Given the description of an element on the screen output the (x, y) to click on. 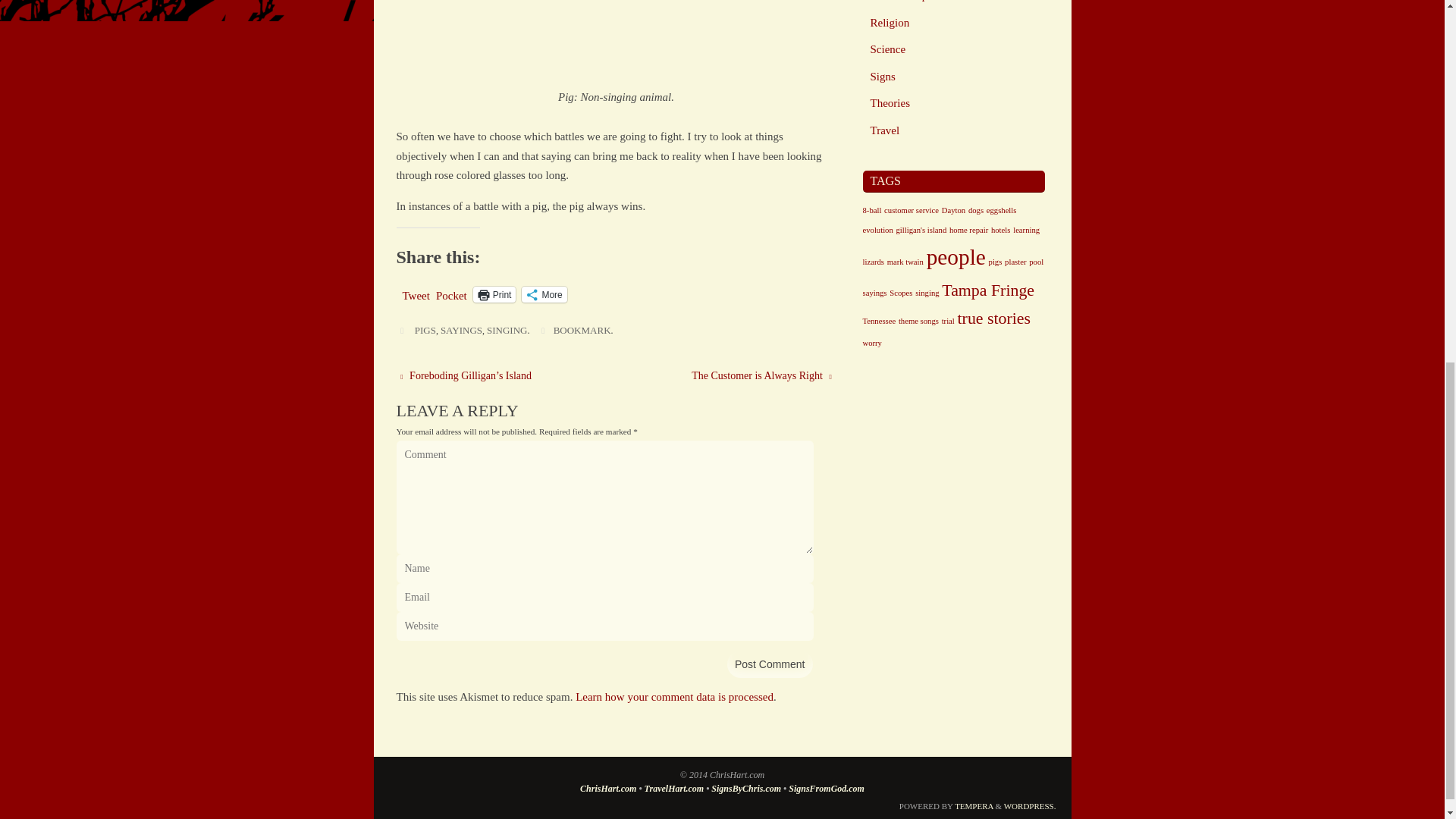
Click to print (494, 294)
Tagged (402, 330)
 Bookmark the permalink (543, 330)
BOOKMARK (582, 329)
Permalink to Singing Pigs (582, 329)
PIGS (424, 329)
More (543, 294)
Pocket (451, 295)
Print (494, 294)
Post Comment (769, 664)
